Given the description of an element on the screen output the (x, y) to click on. 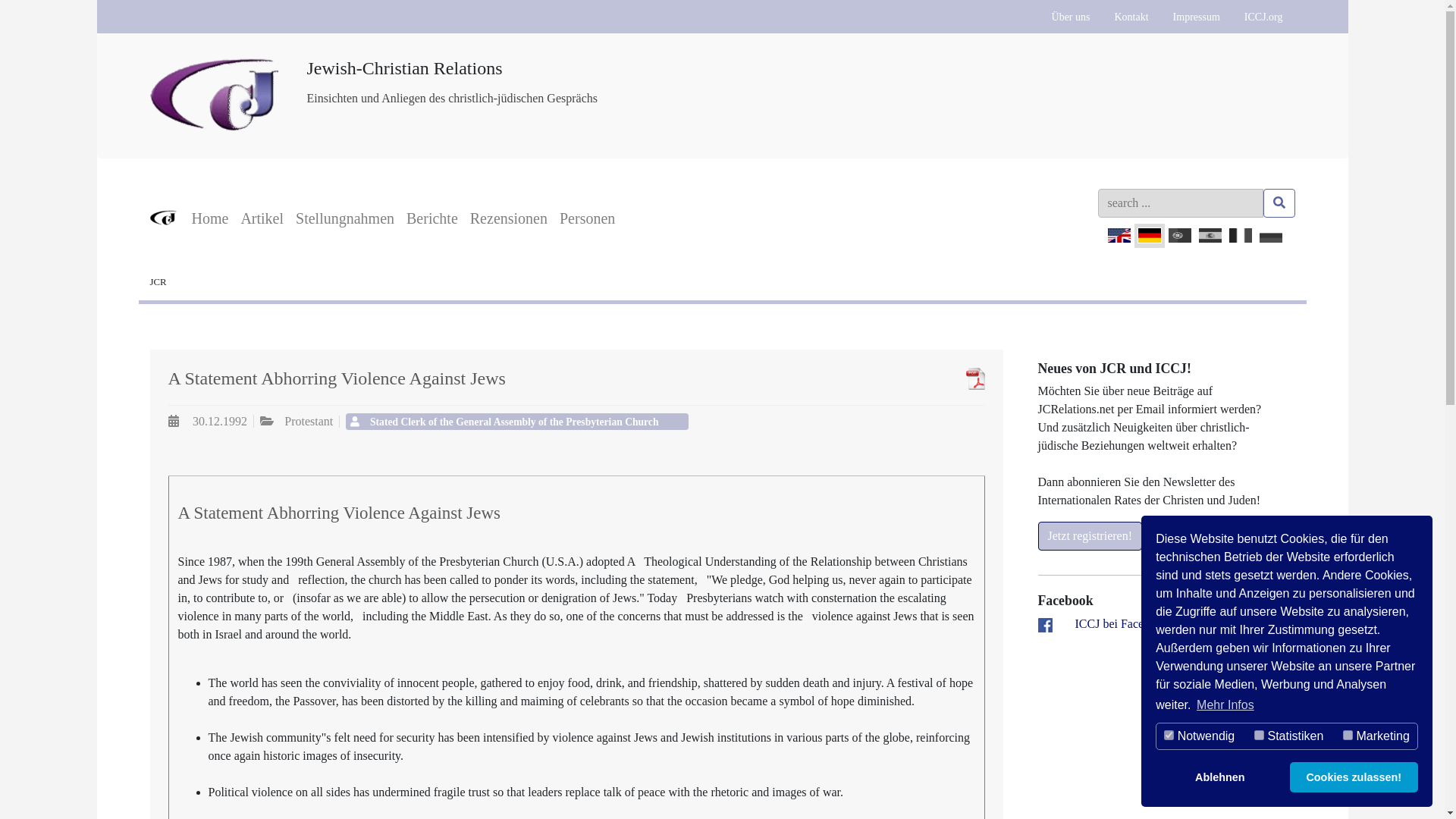
ICCJ bei FaceBook (1122, 623)
Impressum (1195, 17)
Home (209, 217)
Jetzt registrieren! (1088, 535)
Artikel (261, 217)
Kontakt (1131, 17)
JCR (158, 281)
Cookies zulassen! (1354, 777)
Jewish-Christian Relations  (216, 36)
Open external link in new window (1122, 623)
Berichte (432, 217)
A Statement Abhorring Violence Against Jews (906, 378)
English (1118, 235)
Rezensionen (508, 217)
Stellungnahmen (344, 217)
